Given the description of an element on the screen output the (x, y) to click on. 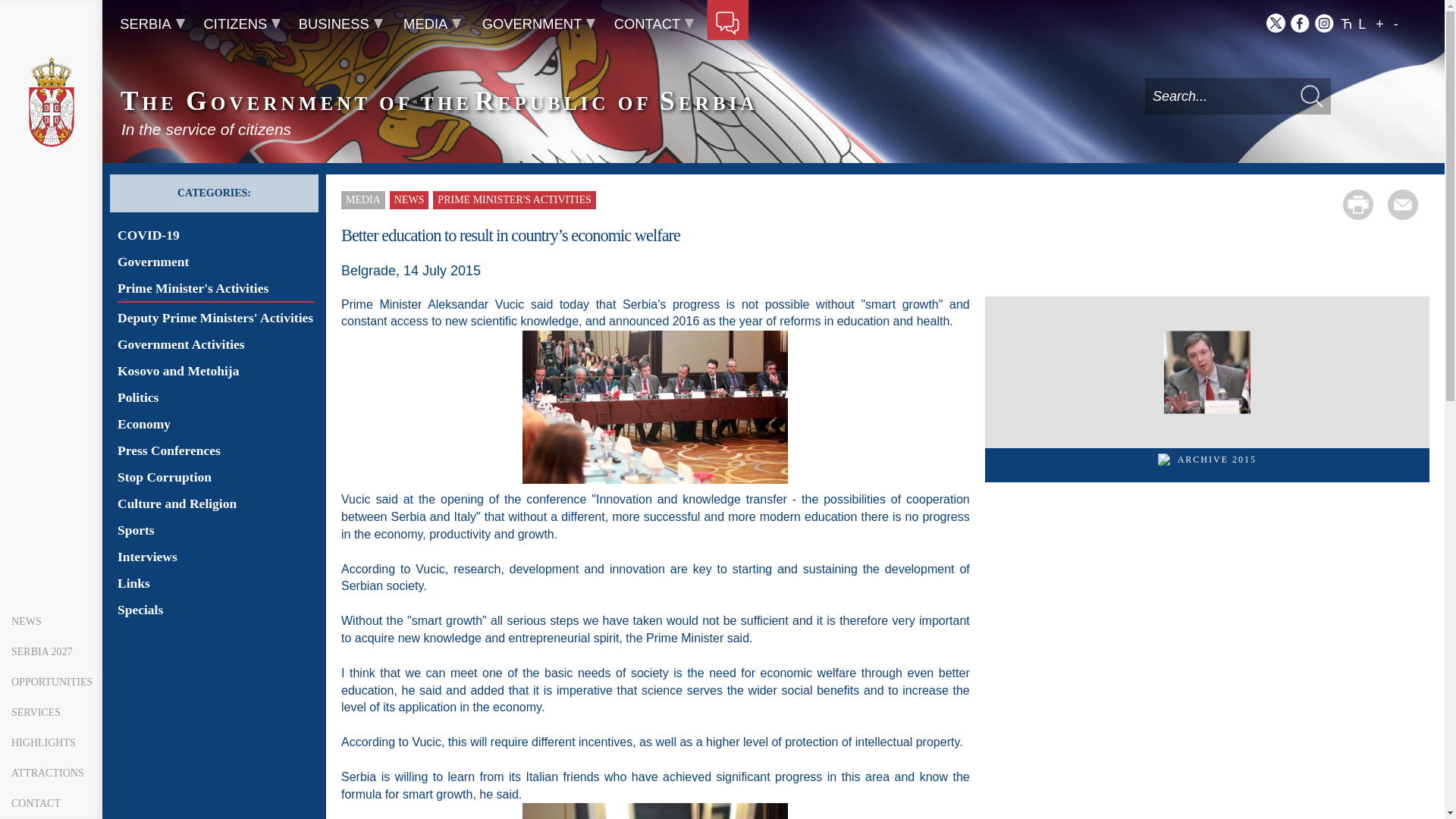
Serbia 2027 (50, 652)
CONTACT (50, 803)
SERVICES (50, 712)
NEWS (50, 621)
Contact form (727, 24)
HIGHLIGHTS (50, 743)
Opportunities (50, 682)
CITIZENS (242, 24)
Highlights (50, 743)
Services (50, 712)
OPPORTUNITIES (50, 682)
Attractions (50, 773)
SERBIA 2027 (50, 652)
ATTRACTIONS (50, 773)
SERBIA (151, 24)
